Given the description of an element on the screen output the (x, y) to click on. 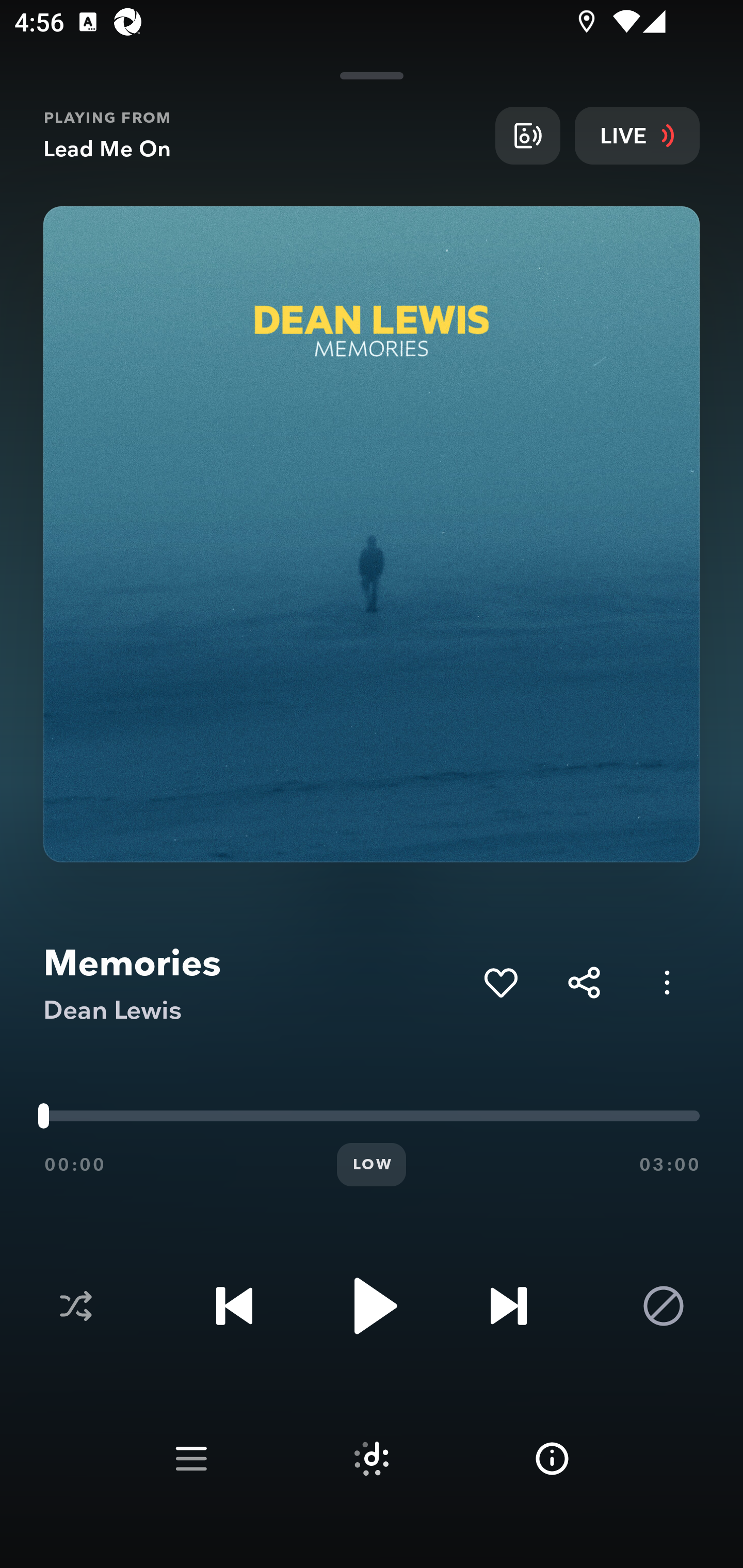
Broadcast (527, 135)
LIVE (637, 135)
PLAYING FROM Lead Me On (261, 135)
Memories Dean Lewis (255, 983)
Add to My Collection (500, 982)
Share (583, 982)
Options (666, 982)
LOW (371, 1164)
Play (371, 1306)
Previous (234, 1306)
Next (508, 1306)
Block (663, 1306)
Shuffle disabled (75, 1306)
Play queue (191, 1458)
Suggested tracks (371, 1458)
Info (551, 1458)
